Given the description of an element on the screen output the (x, y) to click on. 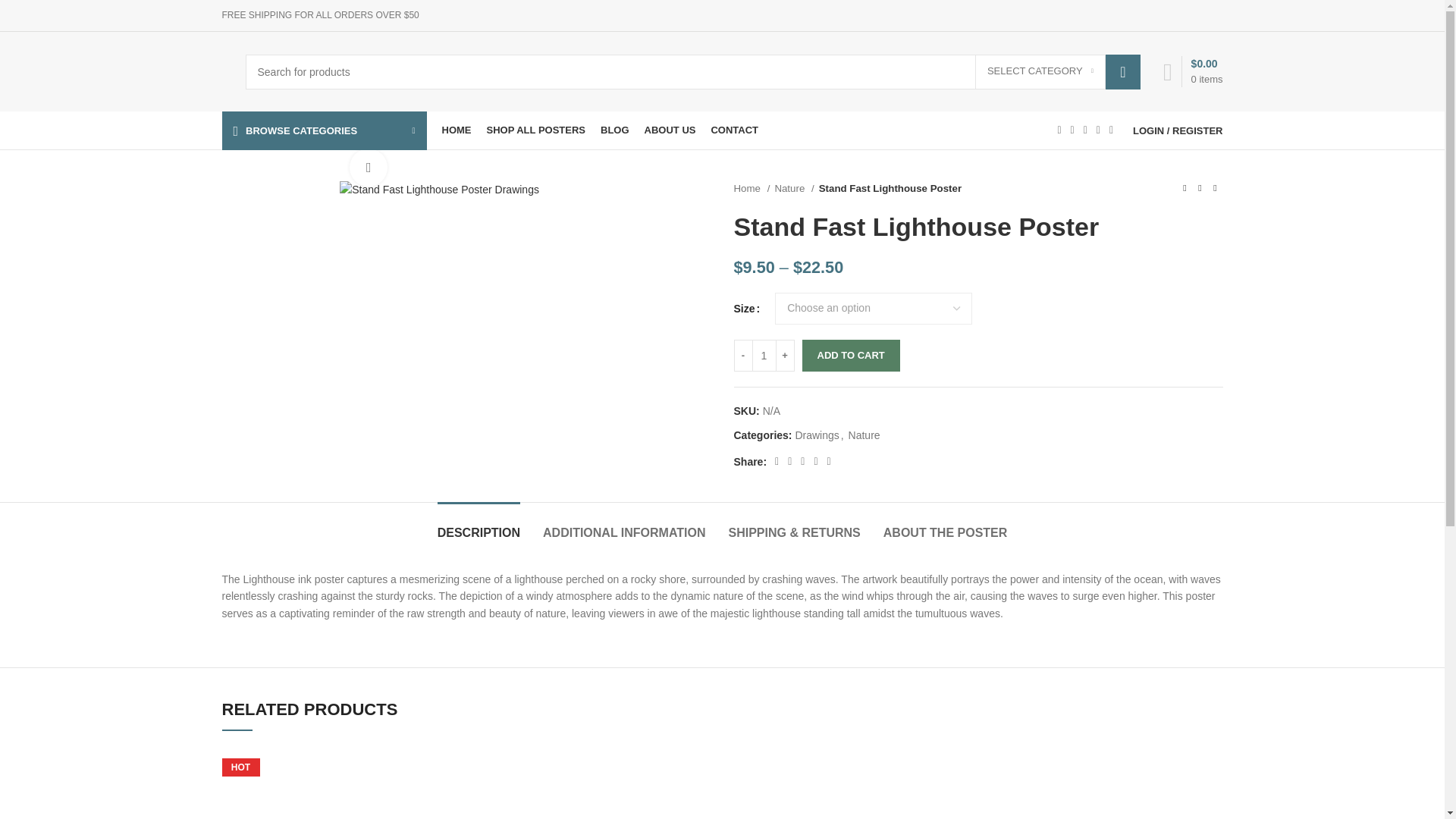
SELECT CATEGORY (1040, 70)
BLOG (613, 130)
Shopping cart (1193, 71)
SELECT CATEGORY (1040, 70)
ABOUT US (670, 130)
CONTACT (734, 130)
HOME (455, 130)
SEARCH (1122, 71)
Search for products (693, 71)
My account (1177, 130)
SHOP ALL POSTERS (536, 130)
Stand Fast Lighthouse Poster Drawings (438, 189)
